Given the description of an element on the screen output the (x, y) to click on. 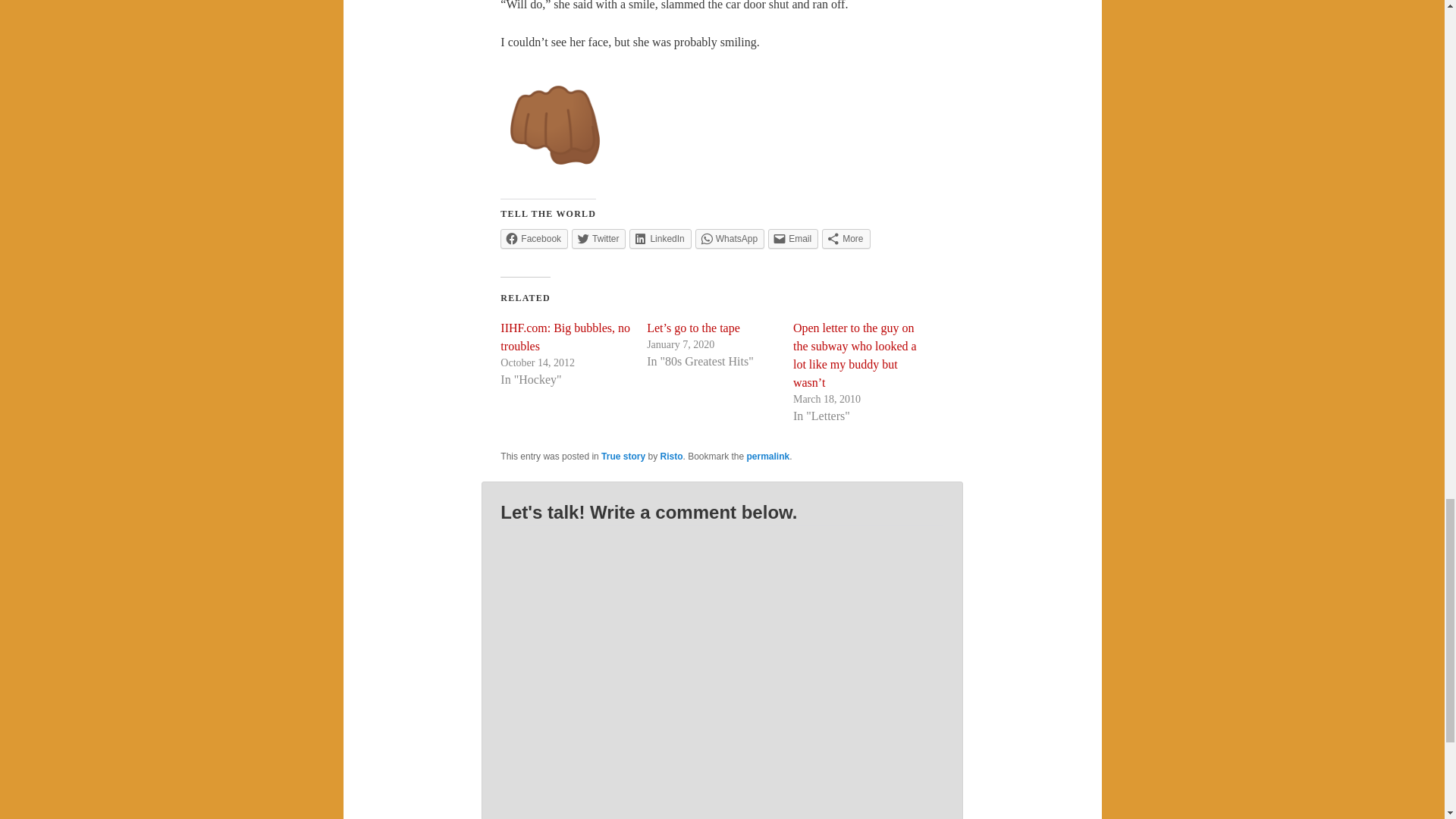
Click to share on WhatsApp (729, 238)
Click to share on Twitter (599, 238)
Click to share on LinkedIn (659, 238)
LinkedIn (659, 238)
Email (793, 238)
Permalink to Happy birthday, Daughter! (768, 456)
True story (623, 456)
Click to share on Facebook (533, 238)
IIHF.com: Big bubbles, no troubles (565, 336)
Risto (670, 456)
